Given the description of an element on the screen output the (x, y) to click on. 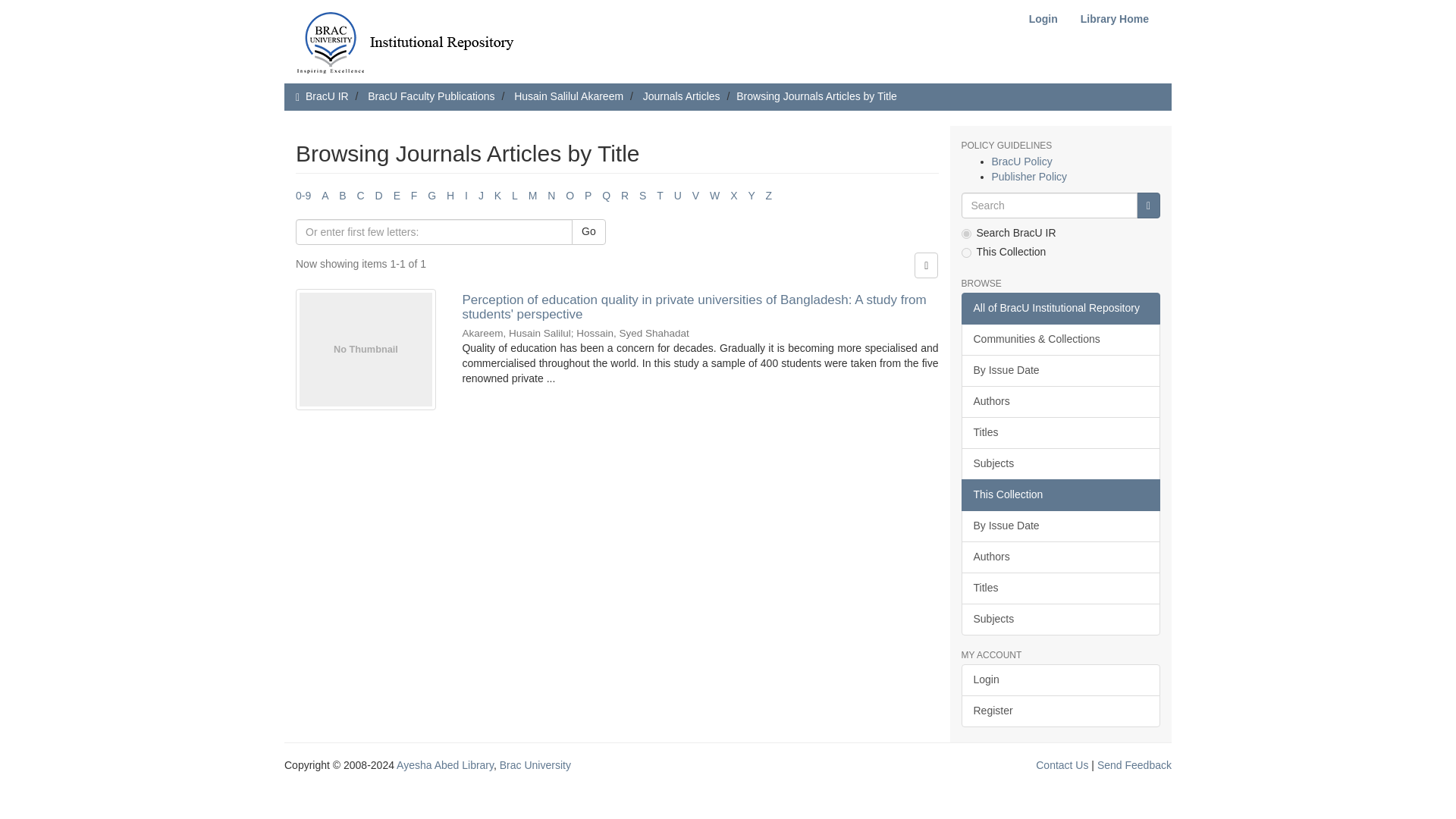
Browse for items that begin with these letters (433, 231)
BracU Faculty Publications (431, 96)
Husain Salilul Akareem (568, 96)
0-9 (303, 195)
Journals Articles (681, 96)
Go (1148, 205)
BracU IR (327, 96)
Login (1042, 19)
Library Home (1114, 19)
